Given the description of an element on the screen output the (x, y) to click on. 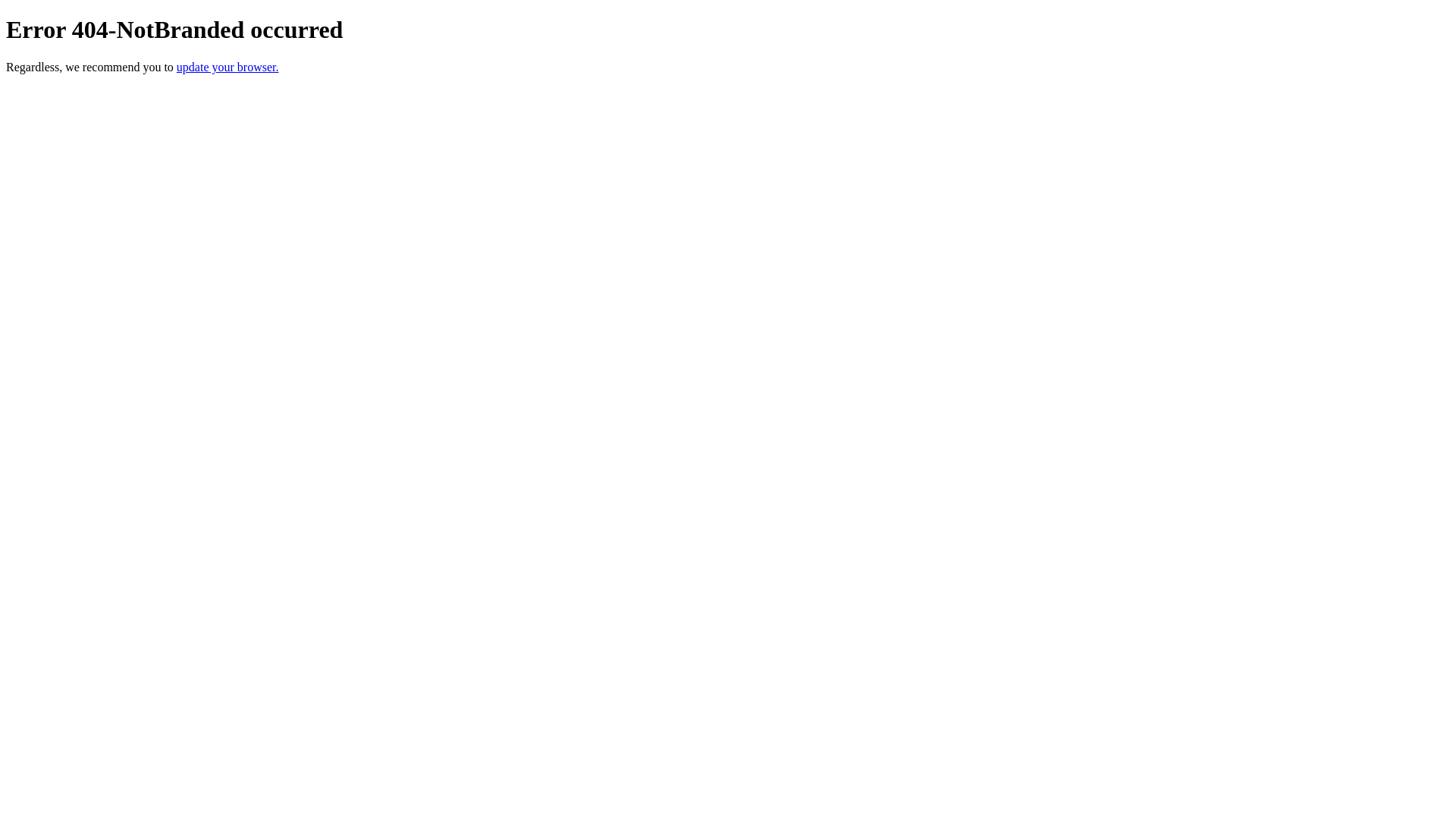
update your browser. Element type: text (227, 66)
